Given the description of an element on the screen output the (x, y) to click on. 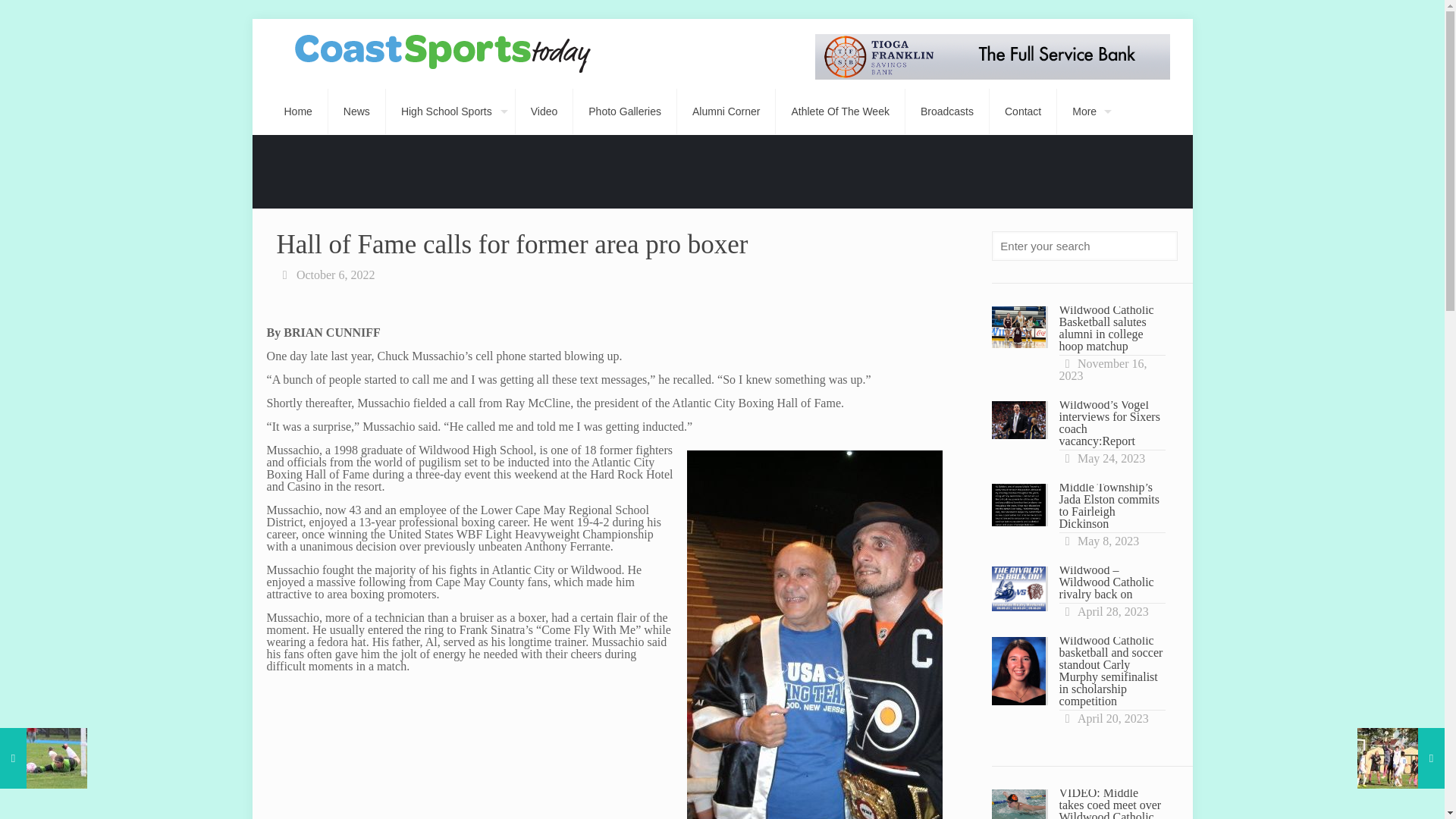
News (357, 111)
Athlete Of The Week (840, 111)
Alumni Corner (726, 111)
Coast Sports Today (443, 53)
Contact (1023, 111)
Home (297, 111)
Photo Galleries (625, 111)
Video (544, 111)
Broadcasts (947, 111)
More (1088, 111)
